Given the description of an element on the screen output the (x, y) to click on. 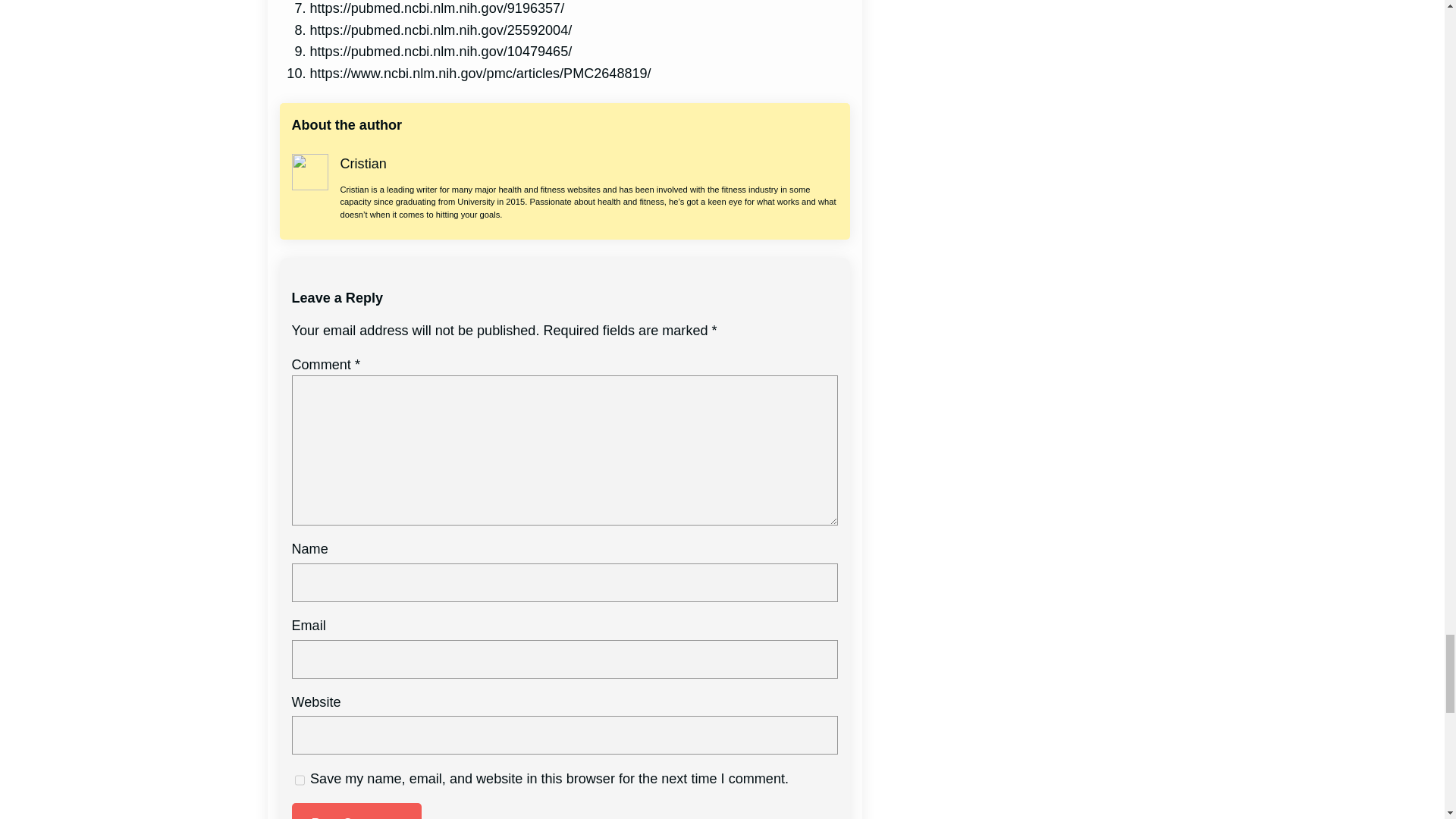
Post Comment (356, 811)
Post Comment (356, 811)
